Given the description of an element on the screen output the (x, y) to click on. 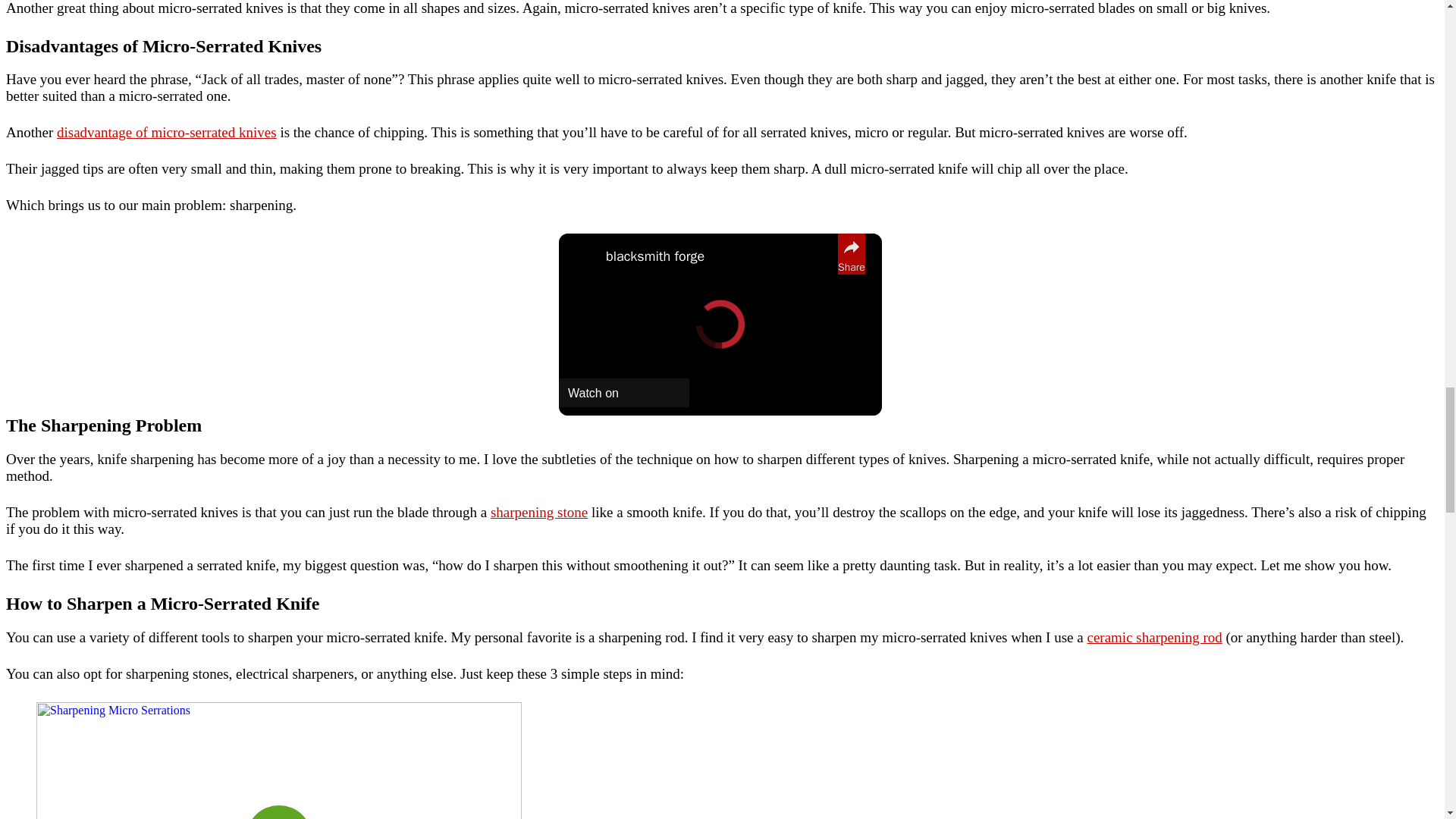
Sharpening Micro Serrations (278, 760)
blacksmith forge (717, 256)
ceramic sharpening rod (1153, 637)
Watch on (623, 392)
sharpening stone (539, 512)
disadvantage of micro-serrated knives (166, 132)
